Given the description of an element on the screen output the (x, y) to click on. 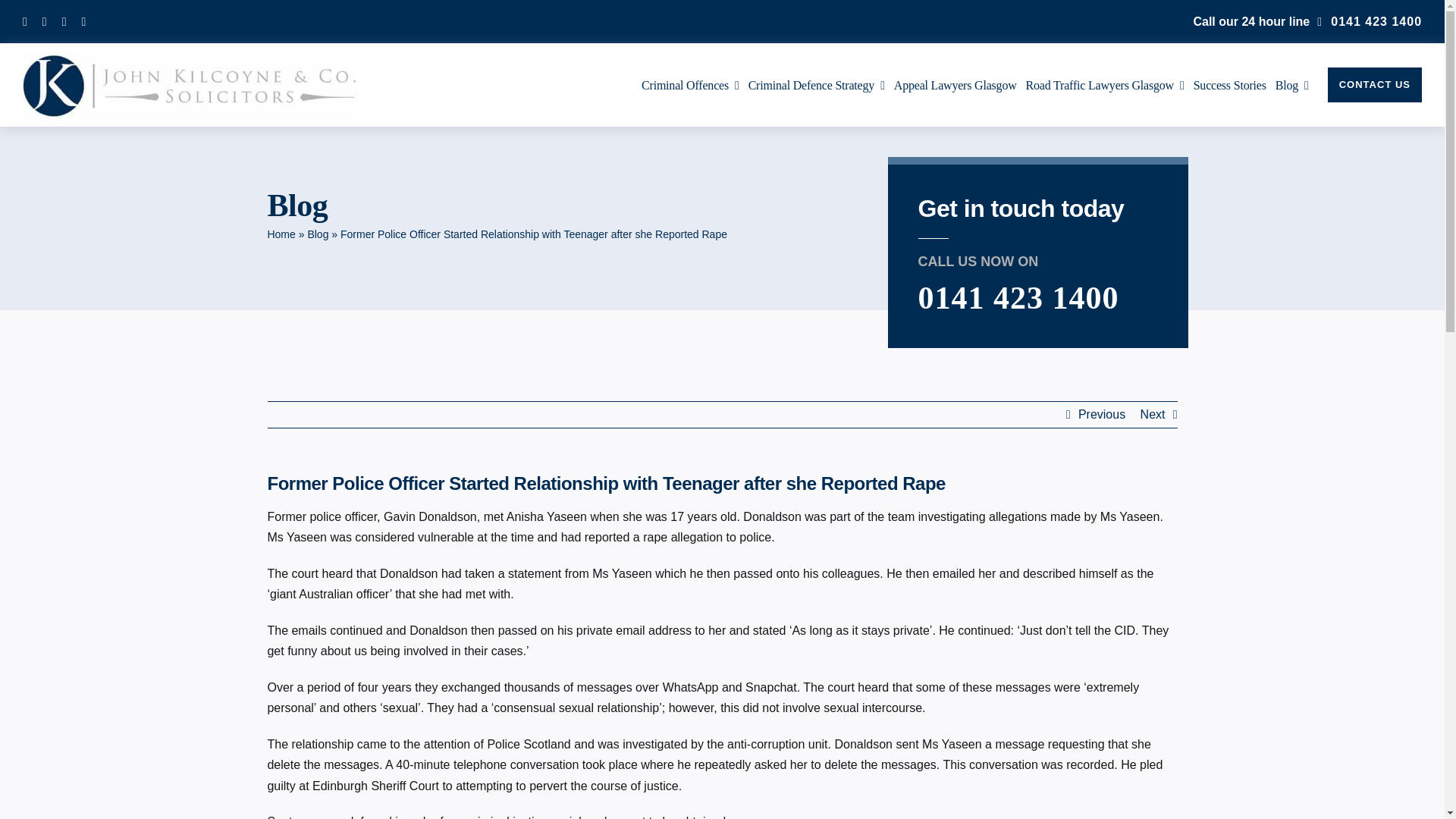
Criminal Defence Strategy (816, 84)
Road Traffic Lawyers Glasgow (1105, 84)
Appeal Lawyers Glasgow (954, 84)
0141 423 1400 (1369, 21)
Criminal Offences (690, 84)
